Given the description of an element on the screen output the (x, y) to click on. 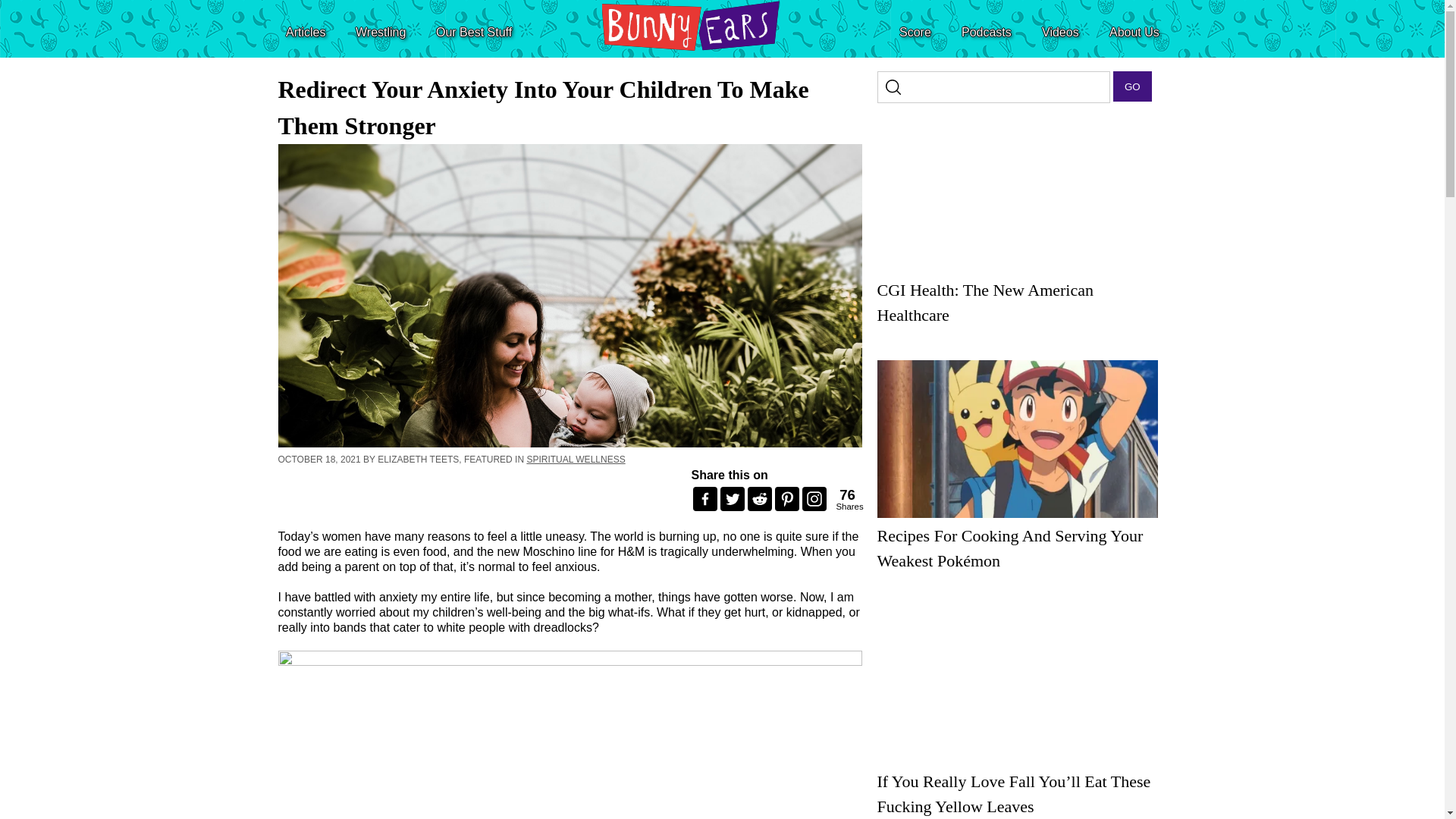
Total Shares (847, 499)
Twitter (732, 498)
Posts by Elizabeth Teets (417, 459)
Videos (1059, 32)
Podcasts (986, 32)
Articles (304, 32)
Instagram (814, 498)
SPIRITUAL WELLNESS (574, 459)
Reddit (844, 499)
